Given the description of an element on the screen output the (x, y) to click on. 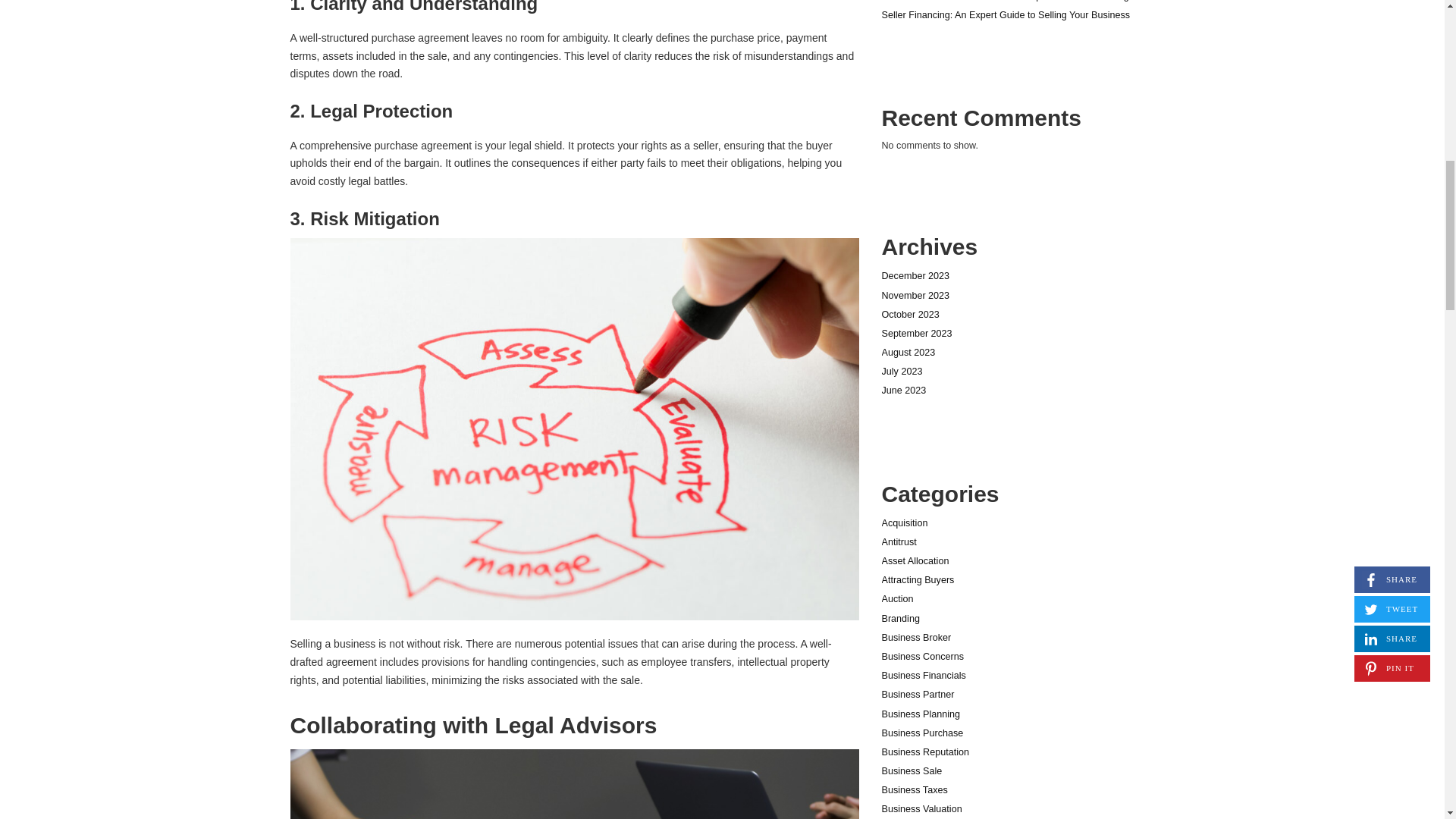
Businessmen signing contracts - sellmybusiness-io (574, 784)
